Given the description of an element on the screen output the (x, y) to click on. 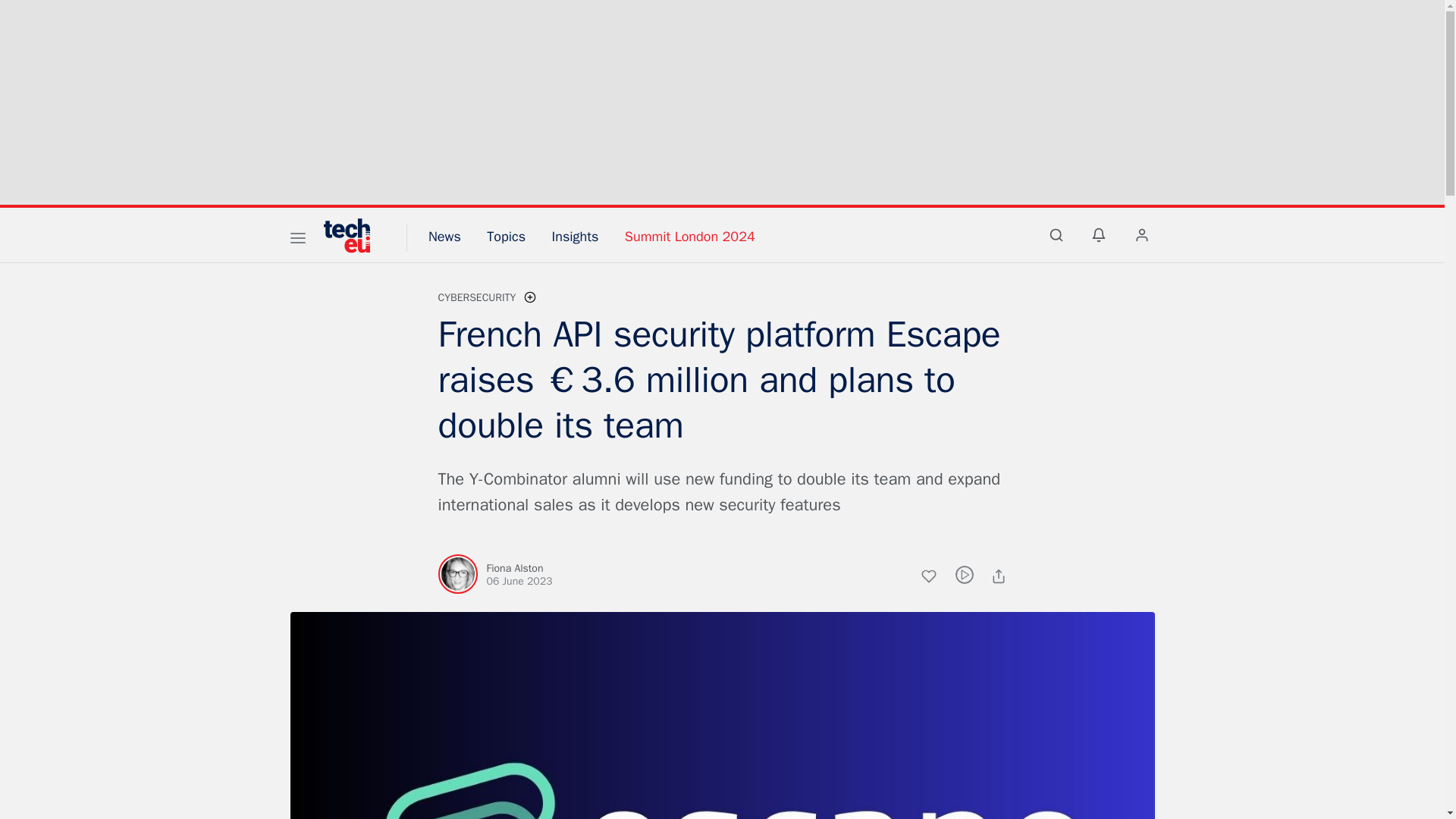
News (444, 236)
Summit London 2024 (689, 236)
Topics (505, 236)
Listen this article (964, 574)
Cybersecurity (477, 297)
Like (936, 578)
Insights (574, 236)
